Given the description of an element on the screen output the (x, y) to click on. 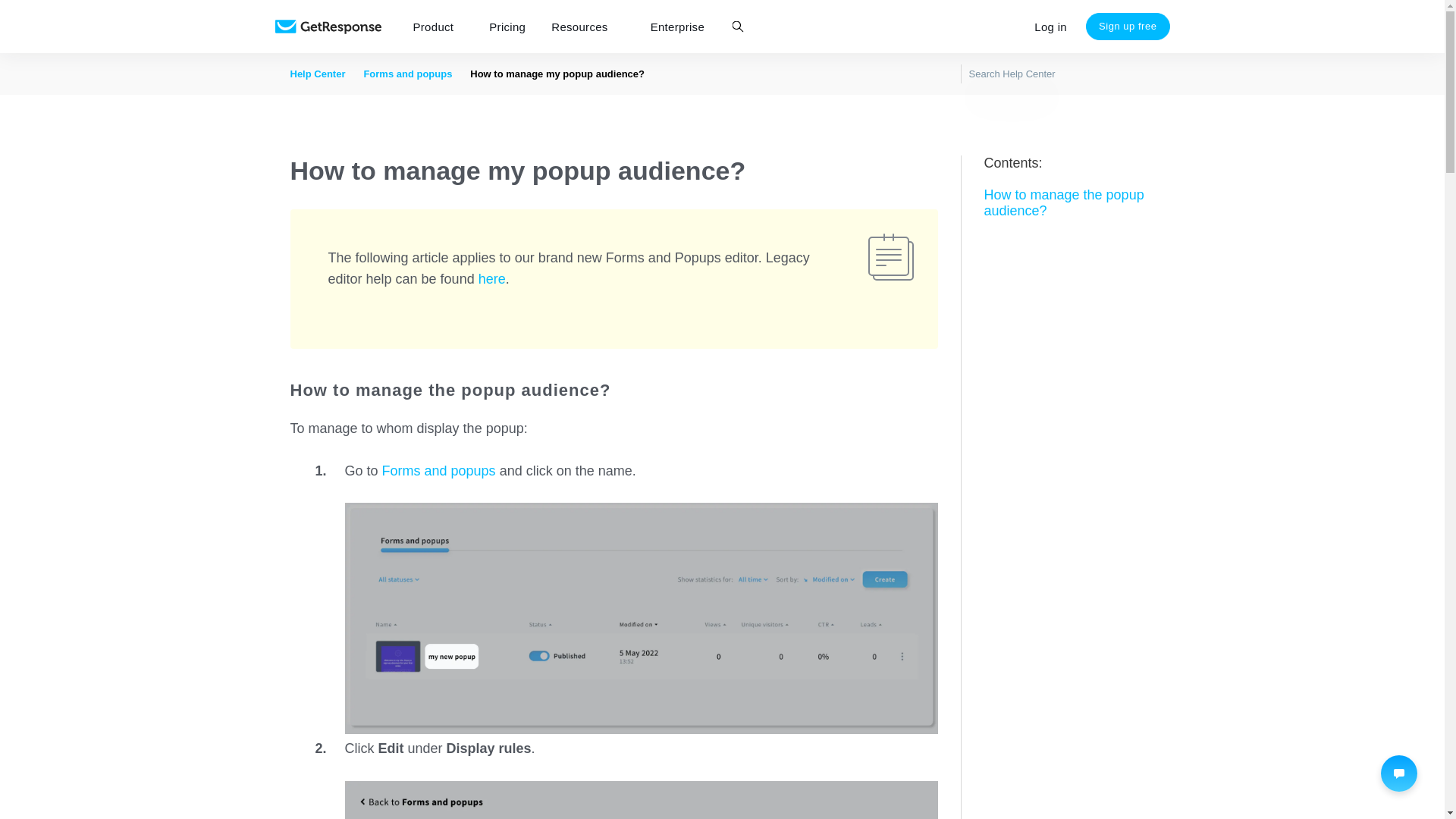
How to manage the popup audience? (1069, 202)
Marketing Software by GetResponse (327, 26)
Pricing (507, 26)
Forms and popups (406, 73)
Enterprise (677, 26)
Marketing Software by GetResponse (327, 26)
Log in (1051, 26)
Help Center (317, 73)
Sign up free (1128, 26)
Sign up free (1128, 26)
